Given the description of an element on the screen output the (x, y) to click on. 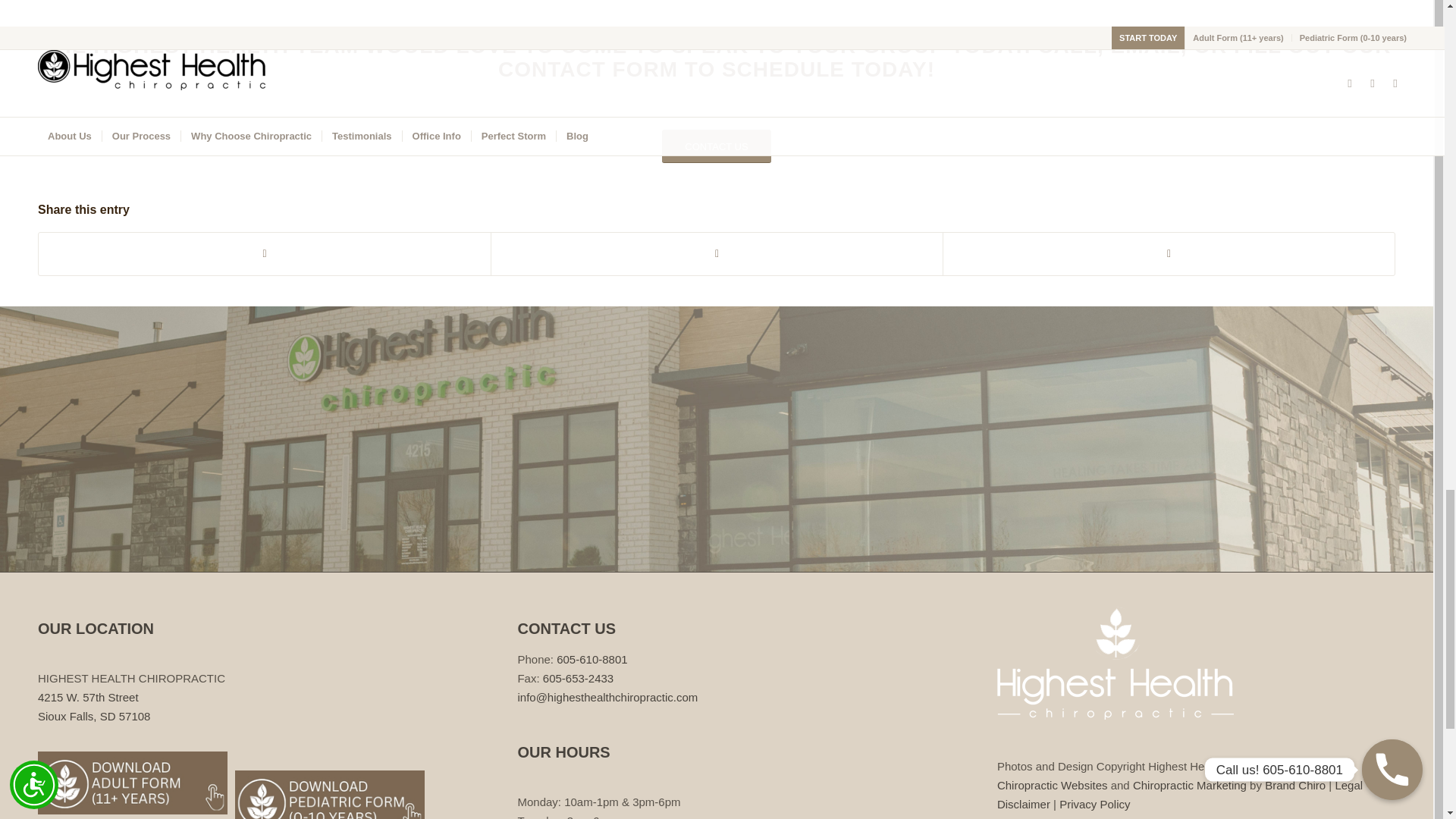
CONTACT US (716, 146)
